Given the description of an element on the screen output the (x, y) to click on. 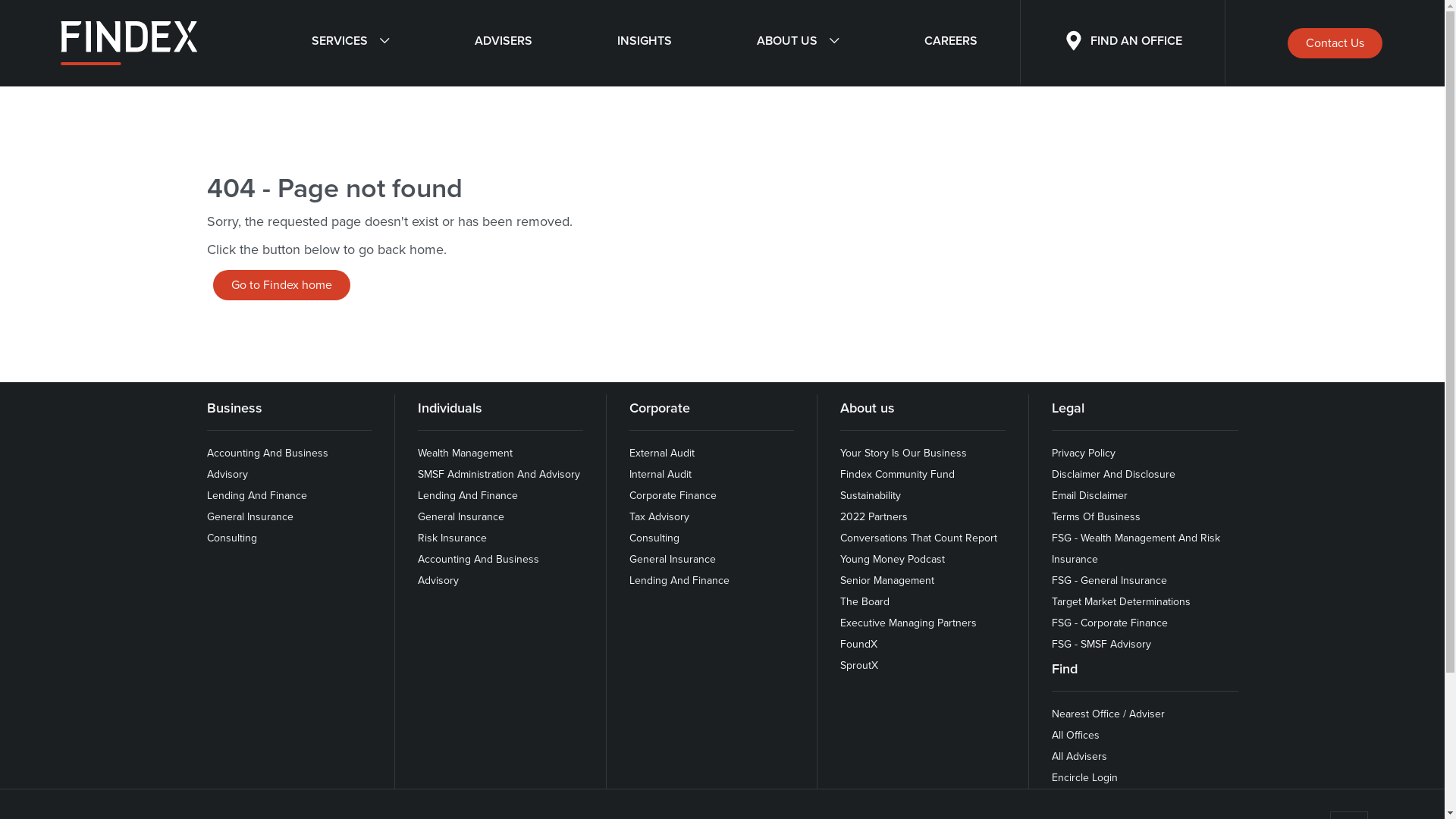
Email Disclaimer Element type: text (1089, 495)
All Offices Element type: text (1075, 734)
Sustainability Element type: text (870, 495)
SproutX Element type: text (859, 664)
Consulting Element type: text (231, 537)
Lending And Finance Element type: text (679, 580)
Senior Management Element type: text (887, 580)
SMSF Administration And Advisory Element type: text (498, 473)
Nearest Office / Adviser Element type: text (1107, 713)
2022 Partners Element type: text (873, 516)
Internal Audit Element type: text (660, 473)
All Advisers Element type: text (1079, 755)
Risk Insurance Element type: text (451, 537)
Disclaimer And Disclosure Element type: text (1113, 473)
ABOUT US Element type: text (797, 43)
Conversations That Count Report Element type: text (918, 537)
FoundX Element type: text (858, 643)
SERVICES Element type: text (350, 43)
Accounting And Business Advisory Element type: text (478, 569)
Accounting And Business Advisory Element type: text (266, 463)
INSIGHTS Element type: text (644, 43)
Corporate Finance Element type: text (672, 495)
ADVISERS Element type: text (503, 43)
General Insurance Element type: text (249, 516)
Wealth Management Element type: text (464, 452)
Your Story Is Our Business Element type: text (903, 452)
FIND AN OFFICE Element type: text (1122, 43)
FSG - General Insurance Element type: text (1109, 580)
Tax Advisory Element type: text (659, 516)
Lending And Finance Element type: text (256, 495)
The Board Element type: text (864, 601)
Executive Managing Partners Element type: text (908, 622)
Findex Community Fund Element type: text (897, 473)
Contact Us Element type: text (1334, 43)
Young Money Podcast Element type: text (892, 558)
Privacy Policy Element type: text (1083, 452)
Target Market Determinations Element type: text (1120, 601)
Terms Of Business Element type: text (1095, 516)
FSG - Corporate Finance Element type: text (1109, 622)
FSG - SMSF Advisory Element type: text (1101, 643)
FSG - Wealth Management And Risk Insurance Element type: text (1135, 548)
General Insurance Element type: text (672, 558)
General Insurance Element type: text (460, 516)
Lending And Finance Element type: text (467, 495)
CAREERS Element type: text (950, 43)
Encircle Login Element type: text (1084, 777)
External Audit Element type: text (661, 452)
Go to Findex home Element type: text (280, 284)
Consulting Element type: text (654, 537)
